Given the description of an element on the screen output the (x, y) to click on. 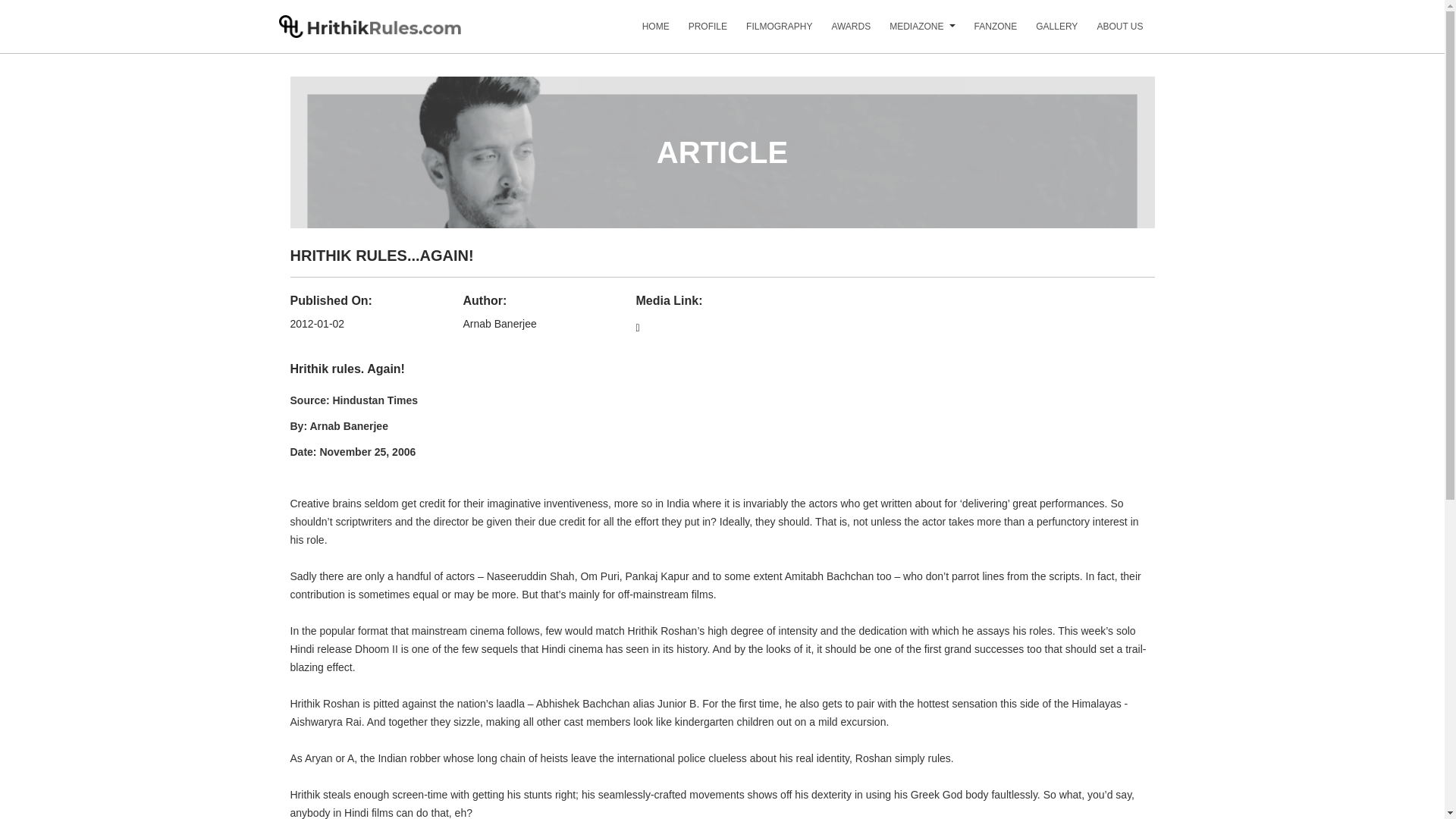
MEDIAZONE (906, 31)
FILMOGRAPHY (769, 31)
ABOUT US (1109, 31)
FANZONE (986, 31)
AWARDS (841, 31)
HOME (646, 31)
PROFILE (697, 31)
GALLERY (1046, 31)
